Given the description of an element on the screen output the (x, y) to click on. 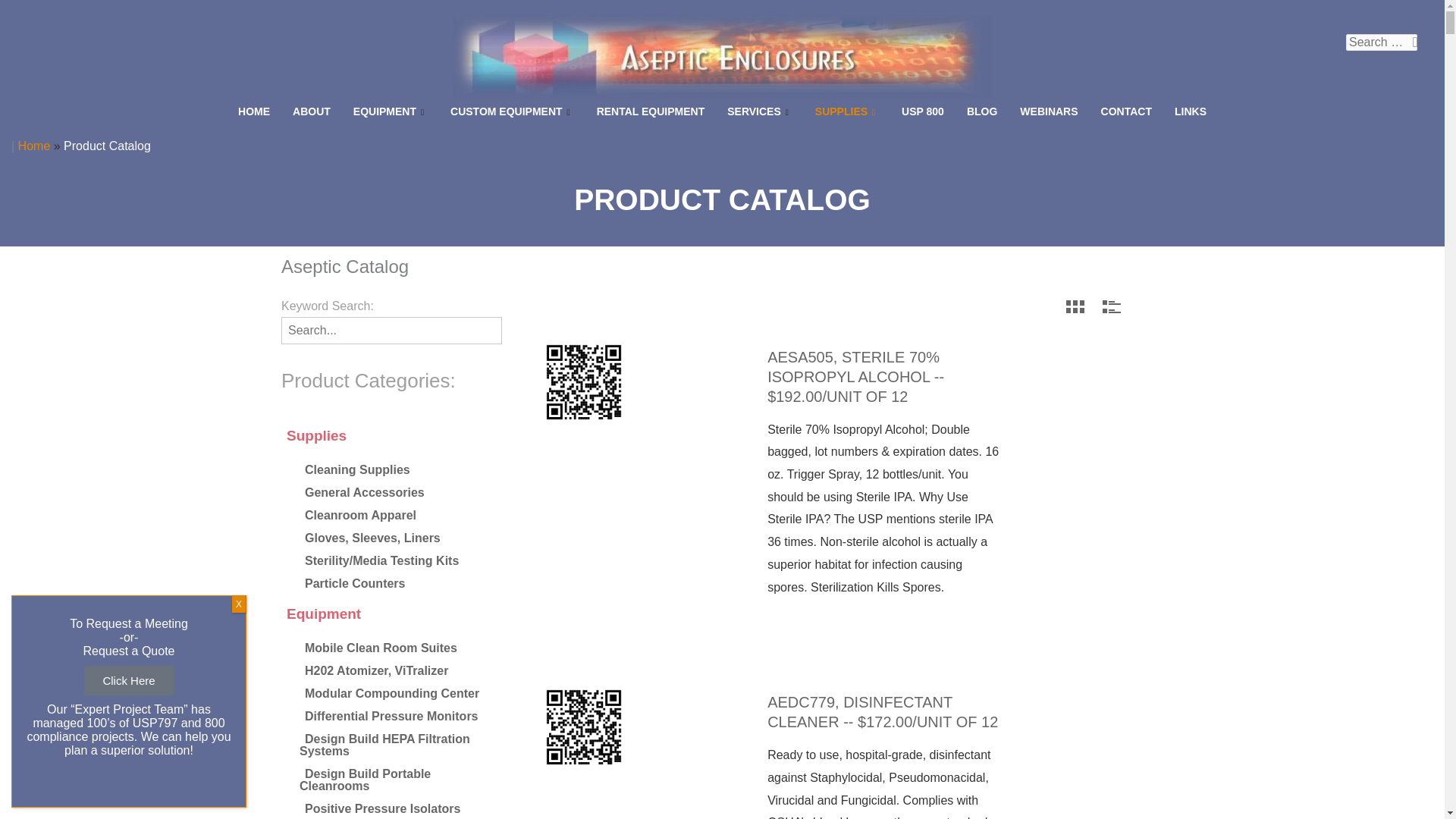
Search (1411, 43)
BLOG (982, 111)
ABOUT (311, 111)
EQUIPMENT (390, 111)
SUPPLIES (846, 111)
CUSTOM EQUIPMENT (512, 111)
Search (1411, 43)
WEBINARS (1049, 111)
RENTAL EQUIPMENT (650, 111)
HOME (254, 111)
Search (1411, 43)
USP 800 (922, 111)
SERVICES (759, 111)
